Given the description of an element on the screen output the (x, y) to click on. 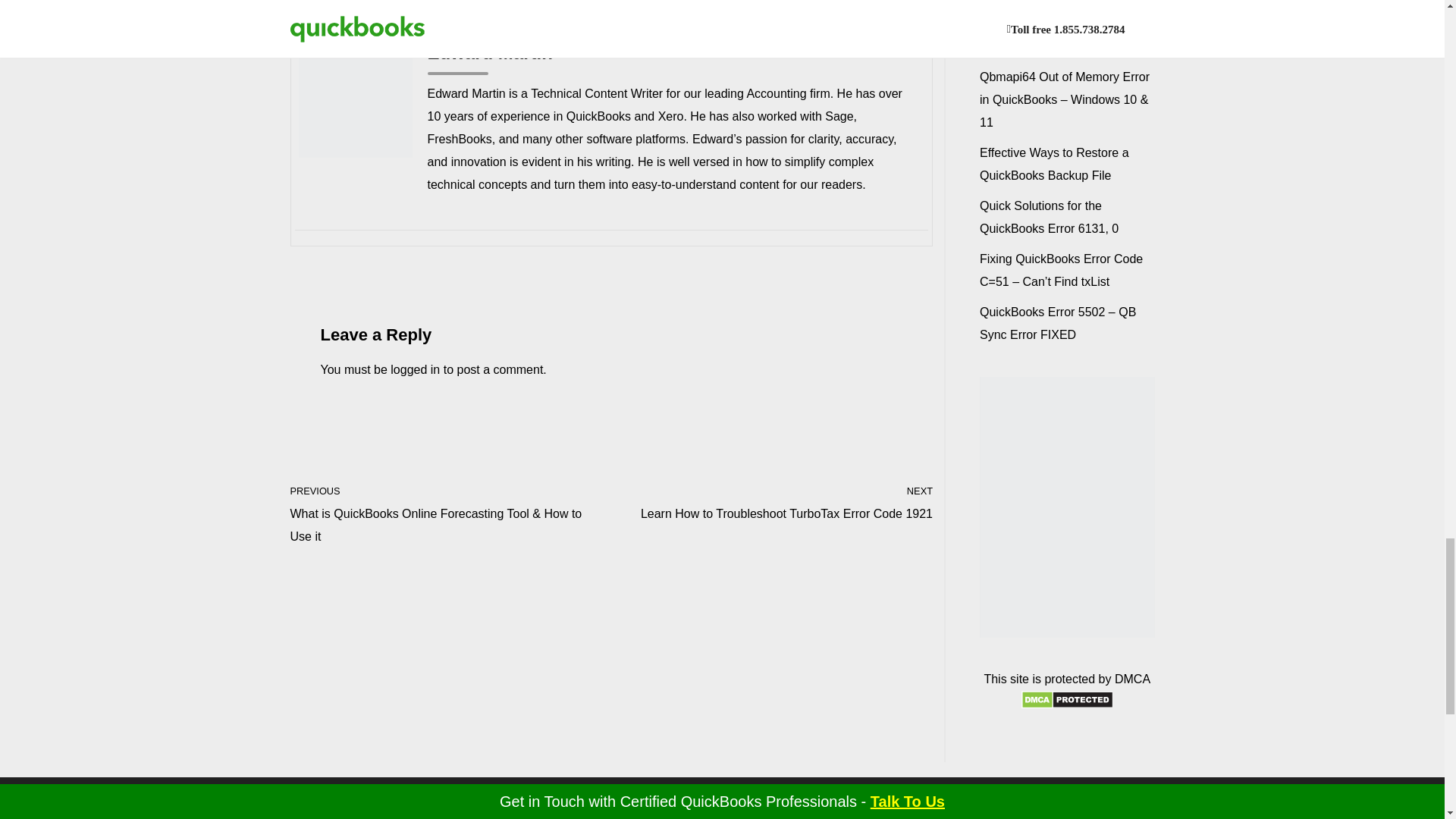
logged in (414, 369)
Effective Ways to Restore a QuickBooks Backup File (1054, 163)
DMCA.com Protection Status (1067, 704)
Quick Solutions for the QuickBooks Error 6131, 0 (775, 502)
